Given the description of an element on the screen output the (x, y) to click on. 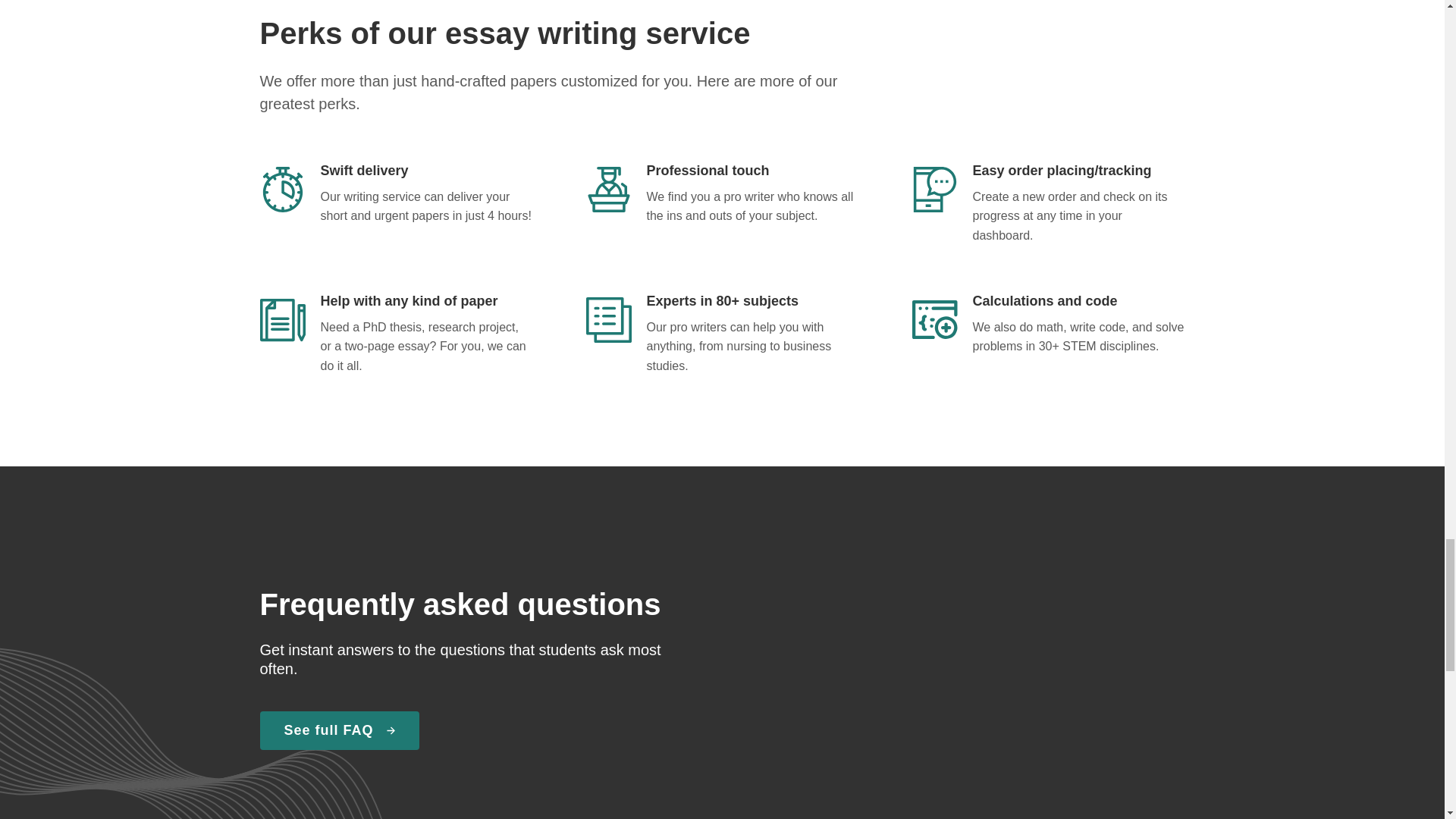
See full FAQ (339, 731)
